Given the description of an element on the screen output the (x, y) to click on. 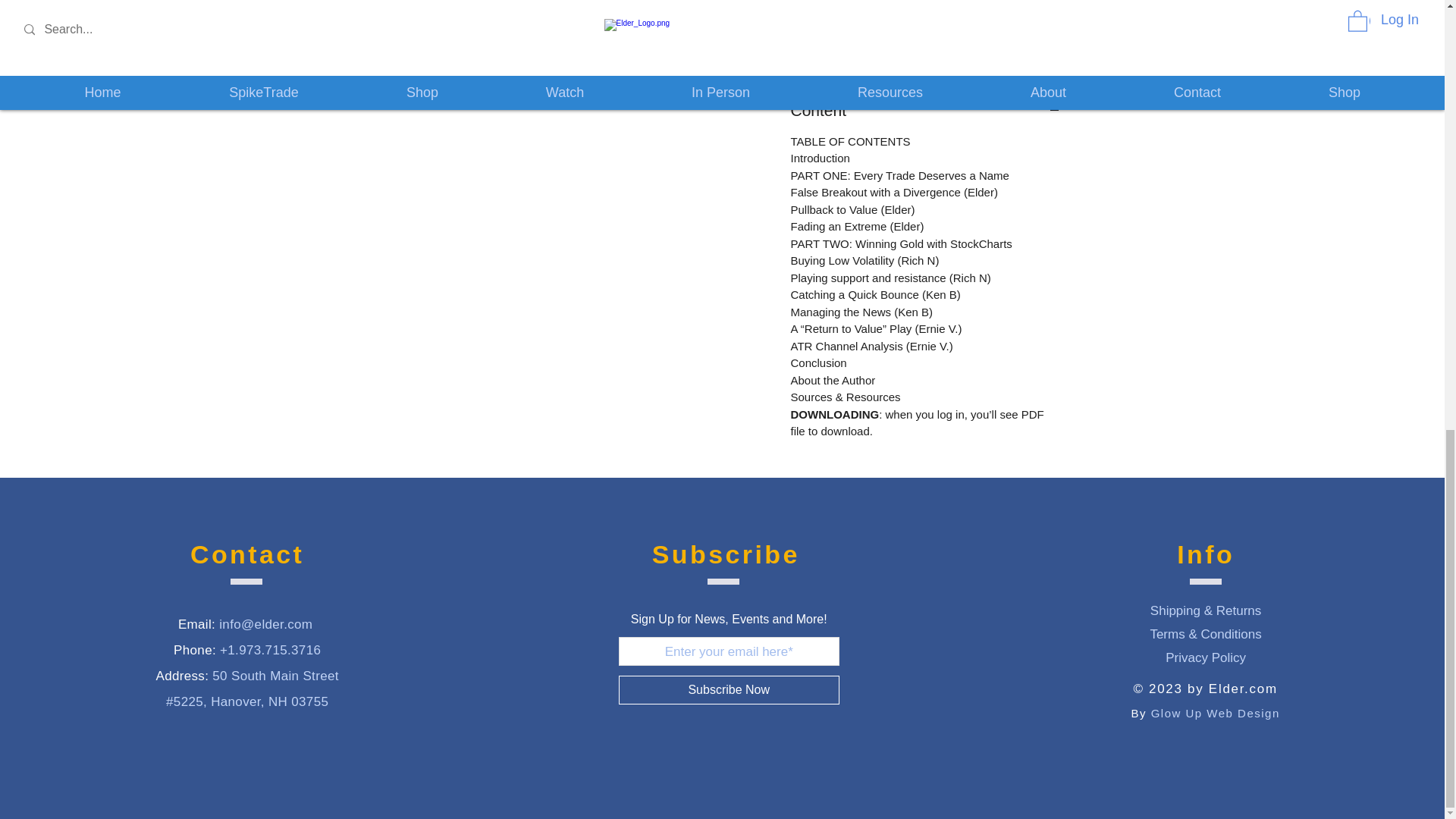
Address: (181, 676)
Content (924, 110)
Glow Up Web Design (1215, 712)
Subscribe Now (729, 689)
Privacy Policy (1206, 657)
